Given the description of an element on the screen output the (x, y) to click on. 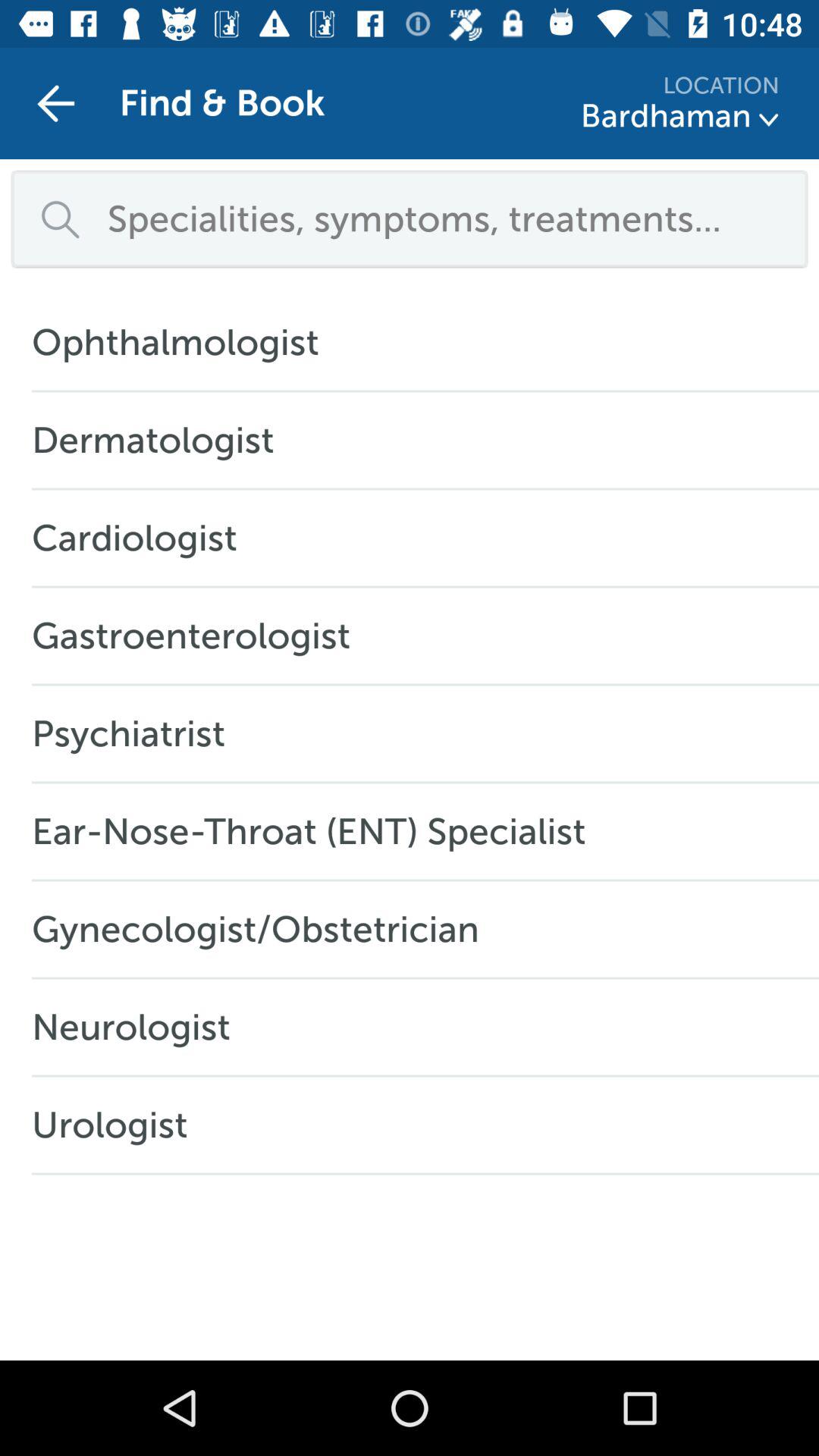
scroll until the neurologist item (138, 1026)
